Given the description of an element on the screen output the (x, y) to click on. 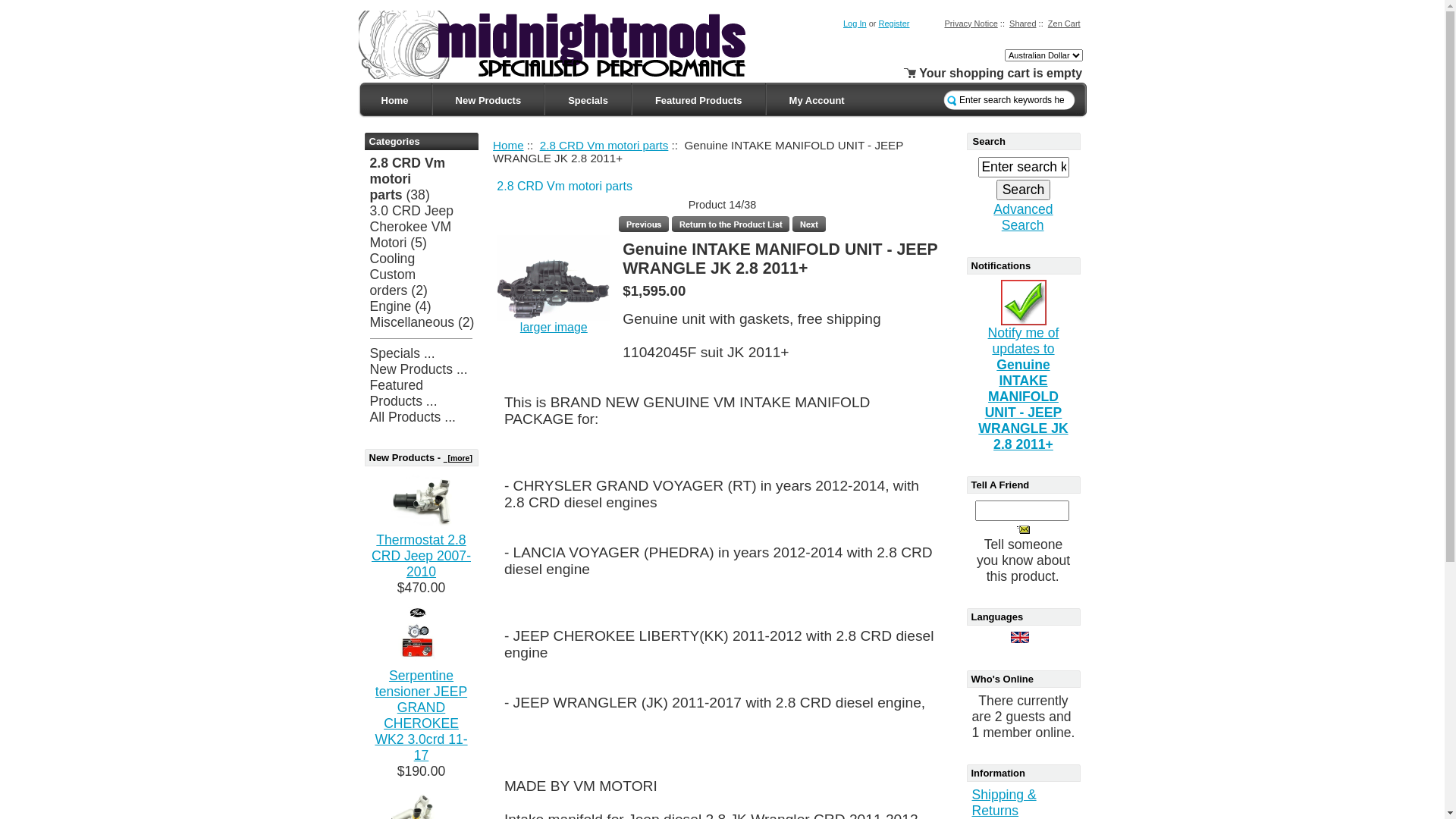
Featured Products Element type: text (698, 100)
2.8 CRD Vm motori parts Element type: text (407, 178)
Shared Element type: text (1022, 22)
Thermostat 2.8 CRD Jeep 2007-2010 Element type: text (420, 555)
Specials Element type: text (587, 100)
Miscellaneous Element type: text (412, 321)
  [more] Element type: text (457, 458)
 Genuine INTAKE MANIFOLD UNIT - JEEP WRANGLE JK 2.8 2011+  Element type: hover (553, 277)
 Notify me of updates to this product.  Element type: hover (1023, 302)
Advanced Search Element type: text (1022, 216)
larger image Element type: text (553, 326)
 Next  Element type: hover (808, 224)
 English  Element type: hover (1019, 637)
Search Element type: text (1023, 189)
Home Element type: text (393, 100)
Cooling Element type: text (392, 258)
Custom orders Element type: text (393, 282)
Engine Element type: text (390, 305)
Serpentine tensioner JEEP GRAND CHEROKEE WK2 3.0crd 11-17 Element type: text (420, 715)
Specials ... Element type: text (402, 352)
Home Element type: text (508, 144)
2.8 CRD Vm motori parts Element type: text (564, 185)
 Serpentine tensioner JEEP GRAND CHEROKEE WK2 3.0crd 11-17  Element type: hover (421, 637)
 Thermostat 2.8 CRD Jeep 2007-2010  Element type: hover (421, 501)
Shipping & Returns Element type: text (1004, 802)
Privacy Notice Element type: text (970, 22)
 Tell a Friend  Element type: hover (1022, 529)
 Template by Zen-Cart-Power.net - Power Your Zen Cart!  Element type: hover (566, 44)
All Products ... Element type: text (412, 416)
2.8 CRD Vm motori parts Element type: text (603, 144)
Zen Cart Element type: text (1064, 22)
My Account Element type: text (816, 100)
Register Element type: text (893, 22)
3.0 CRD Jeep Cherokee VM Motori Element type: text (412, 226)
 Previous  Element type: hover (643, 224)
Featured Products ... Element type: text (403, 392)
New Products Element type: text (488, 100)
Log In Element type: text (854, 22)
 Return to the Product List  Element type: hover (730, 224)
New Products ... Element type: text (418, 368)
